Given the description of an element on the screen output the (x, y) to click on. 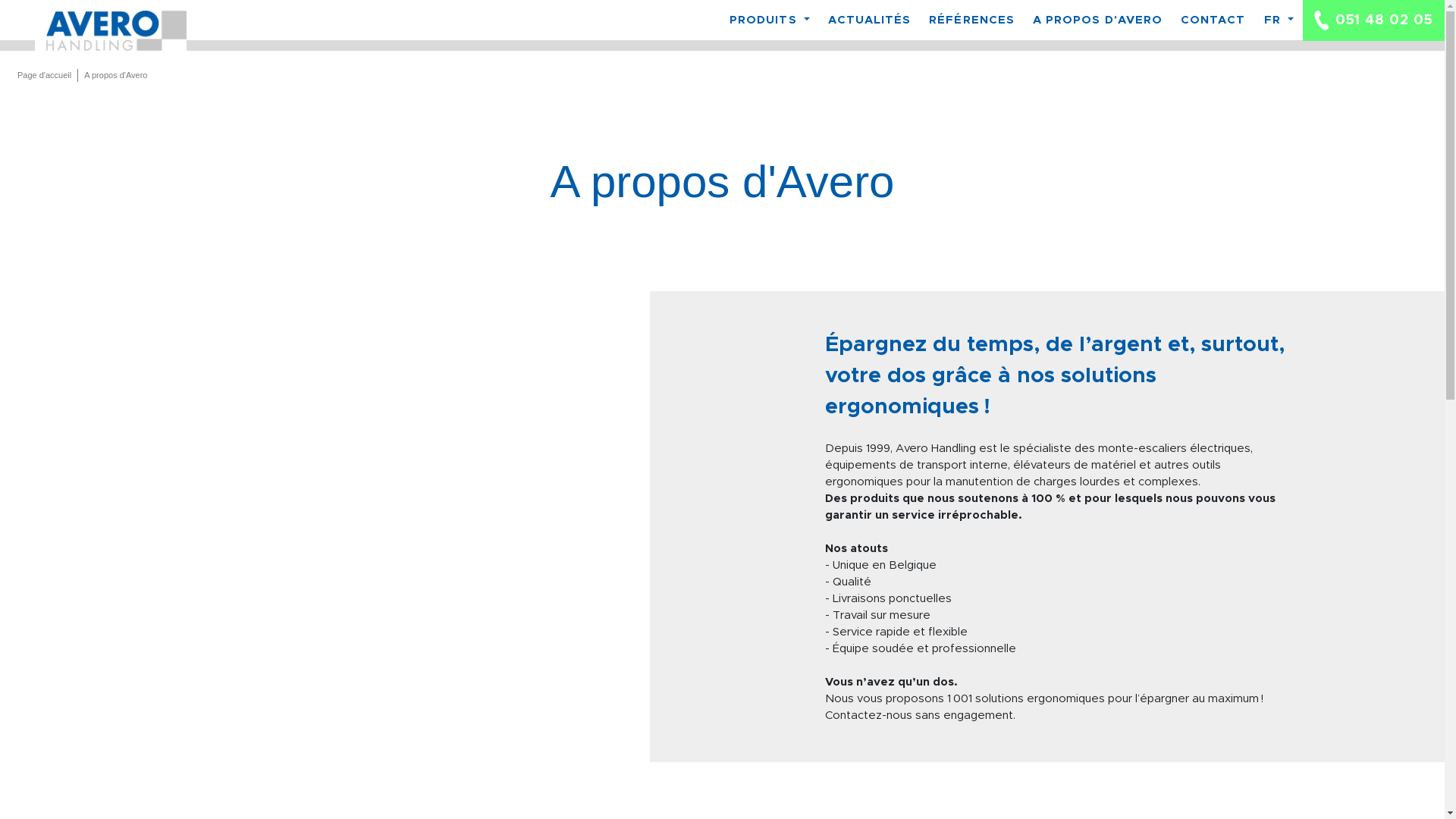
PRODUITS Element type: text (773, 20)
CONTACT Element type: text (1213, 20)
Avero handling Element type: hover (110, 30)
Page d'accueil Element type: text (44, 75)
A propos d'Avero Element type: text (115, 75)
A PROPOS D'AVERO Element type: text (1097, 20)
FR Element type: text (1278, 20)
051 48 02 05 Element type: text (1373, 20)
